Given the description of an element on the screen output the (x, y) to click on. 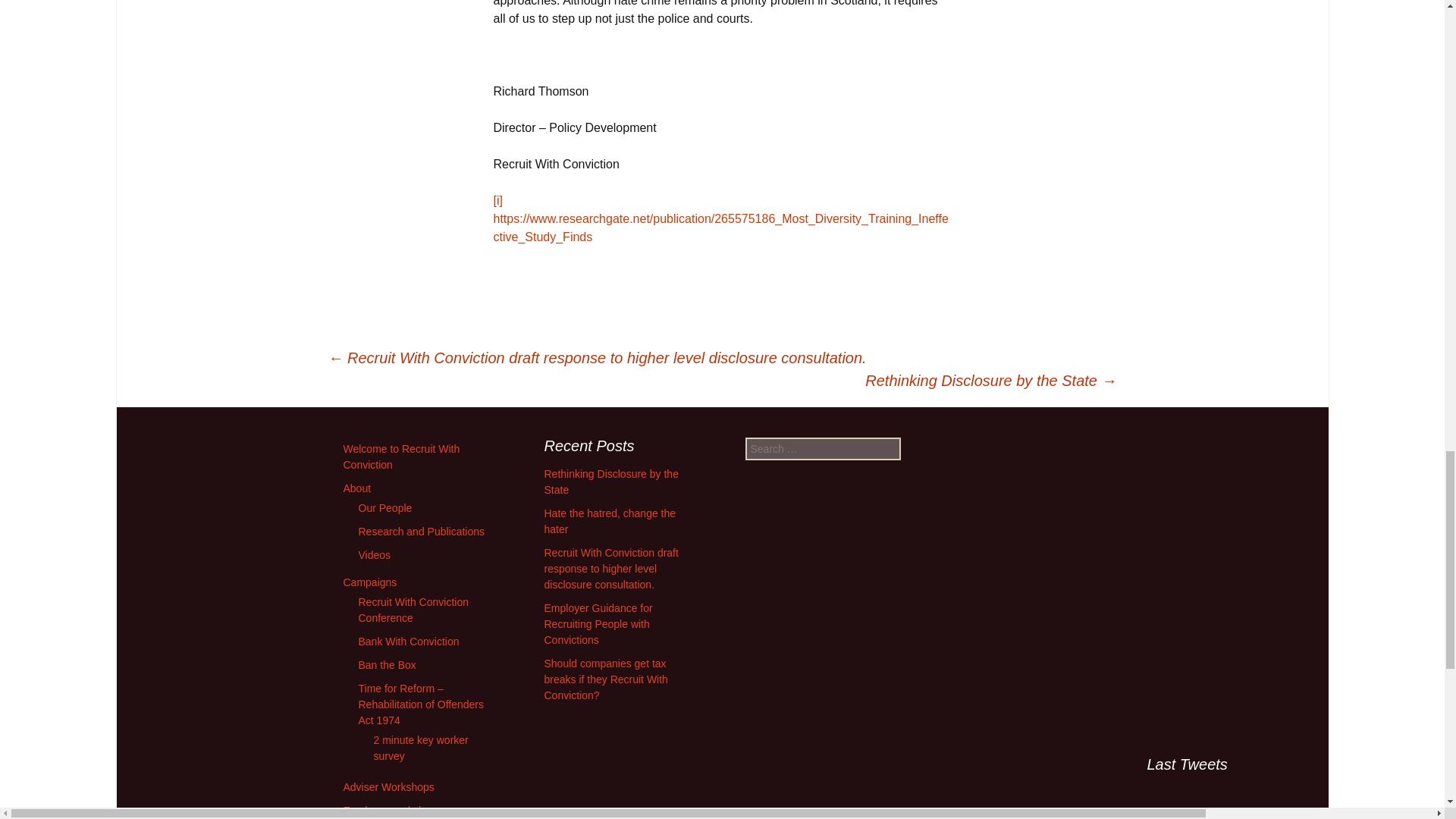
Campaigns (369, 582)
Bank With Conviction (408, 641)
About (356, 488)
Welcome to Recruit With Conviction (401, 456)
Videos (374, 554)
Recruit With Conviction Conference (413, 610)
Our People (385, 508)
Ban the Box (386, 664)
Research and Publications (421, 531)
